Given the description of an element on the screen output the (x, y) to click on. 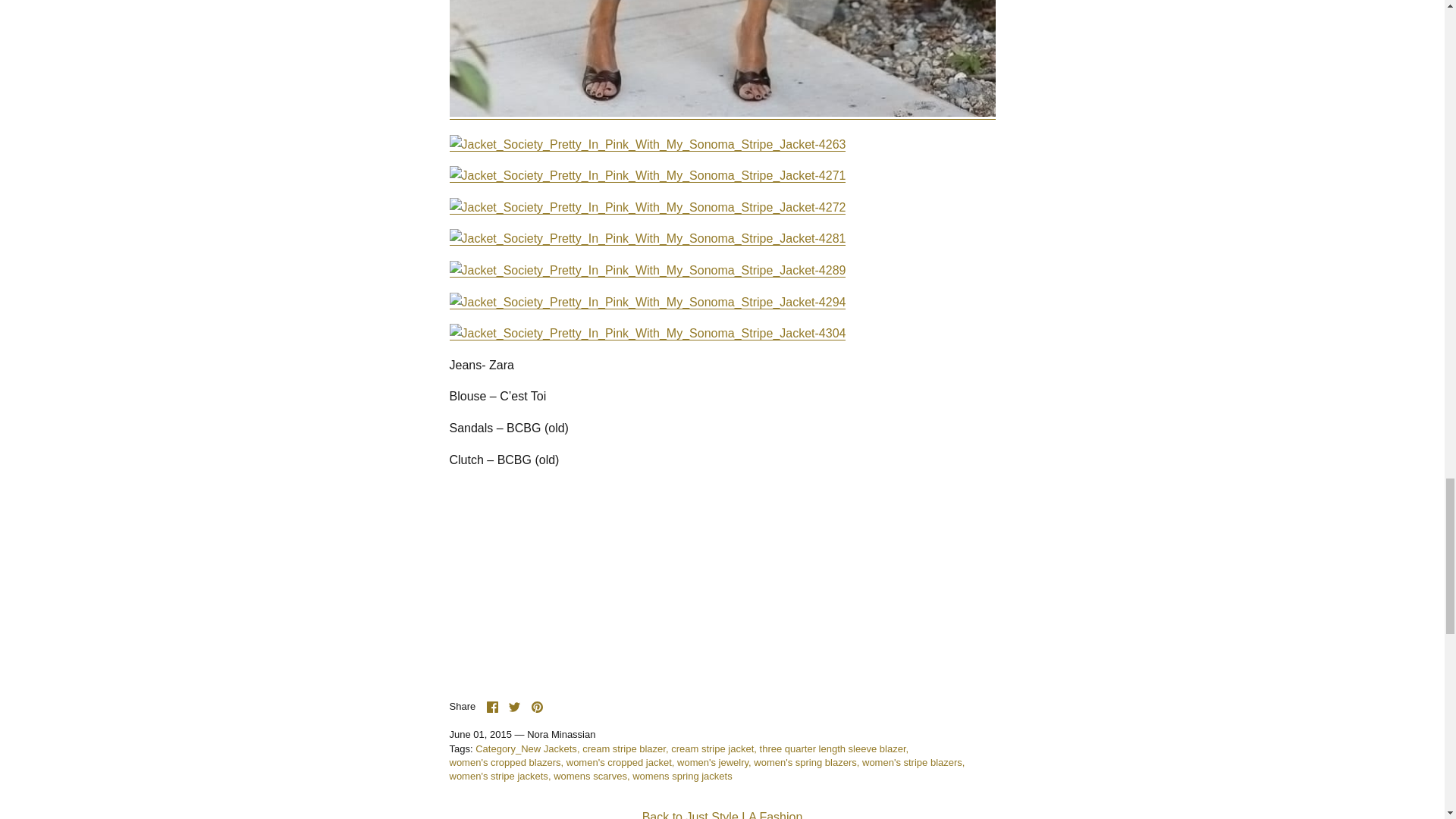
Show articles tagged womens spring jackets (681, 776)
Show articles tagged women's stripe jackets (499, 776)
Show articles tagged women's spring blazers (806, 762)
Show articles tagged womens scarves (590, 776)
Facebook (491, 706)
Show articles tagged cream stripe blazer (625, 748)
Show articles tagged cream stripe jacket (714, 748)
Pinterest (537, 706)
Show articles tagged women's jewelry (714, 762)
Show articles tagged women's cropped jacket (620, 762)
